Given the description of an element on the screen output the (x, y) to click on. 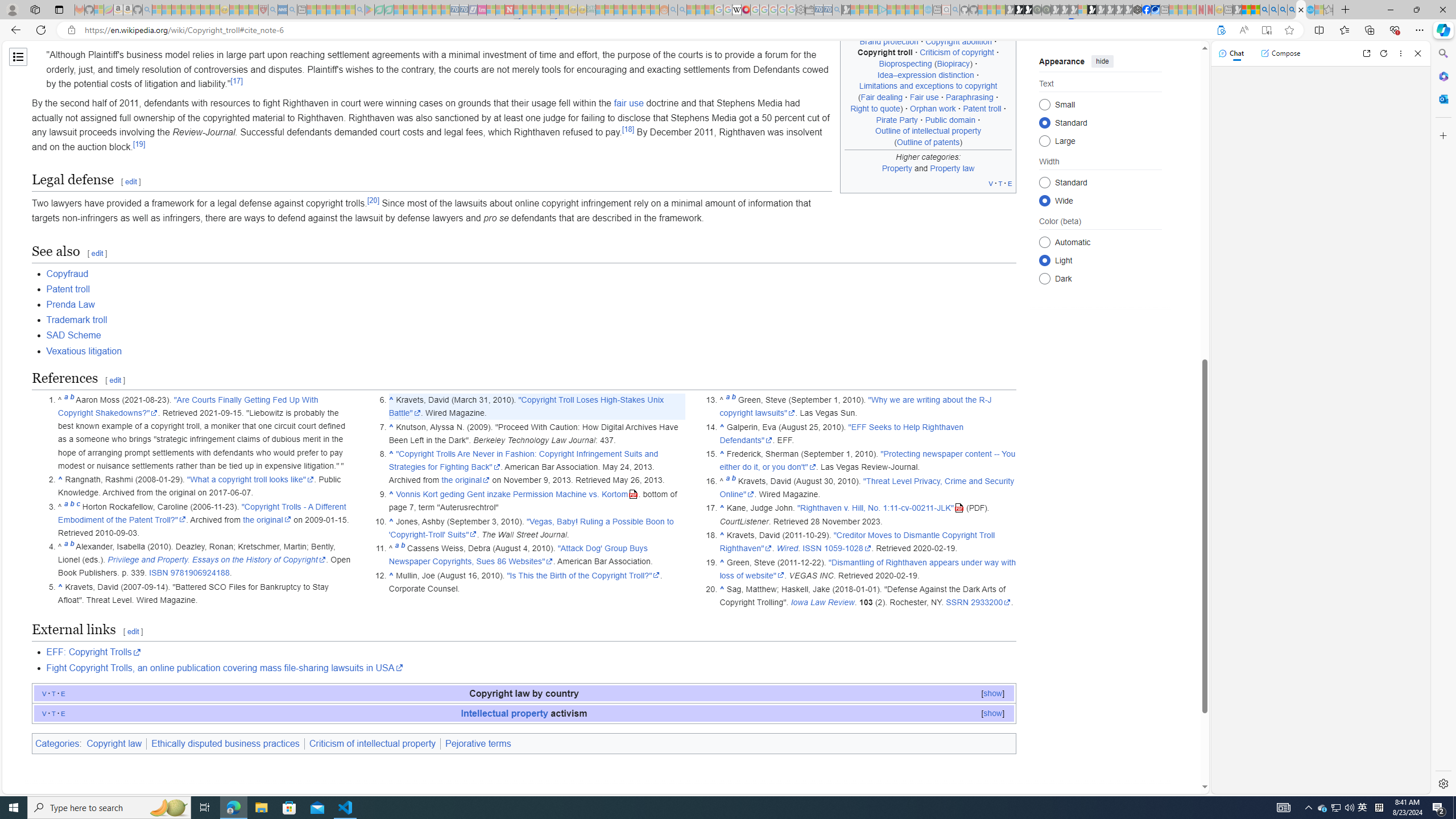
Patent troll (531, 288)
MSNBC - MSN - Sleeping (600, 9)
Vexatious litigation (84, 350)
"Is This the Birth of the Copyright Troll?" (583, 574)
Fair dealing (881, 97)
Future Focus Report 2024 - Sleeping (1045, 9)
Privilege and Property. Essays on the History of Copyright (216, 560)
Latest Politics News & Archive | Newsweek.com - Sleeping (508, 9)
fair use (627, 103)
Ethically disputed business practices (224, 743)
AirNow.gov (1154, 9)
